Given the description of an element on the screen output the (x, y) to click on. 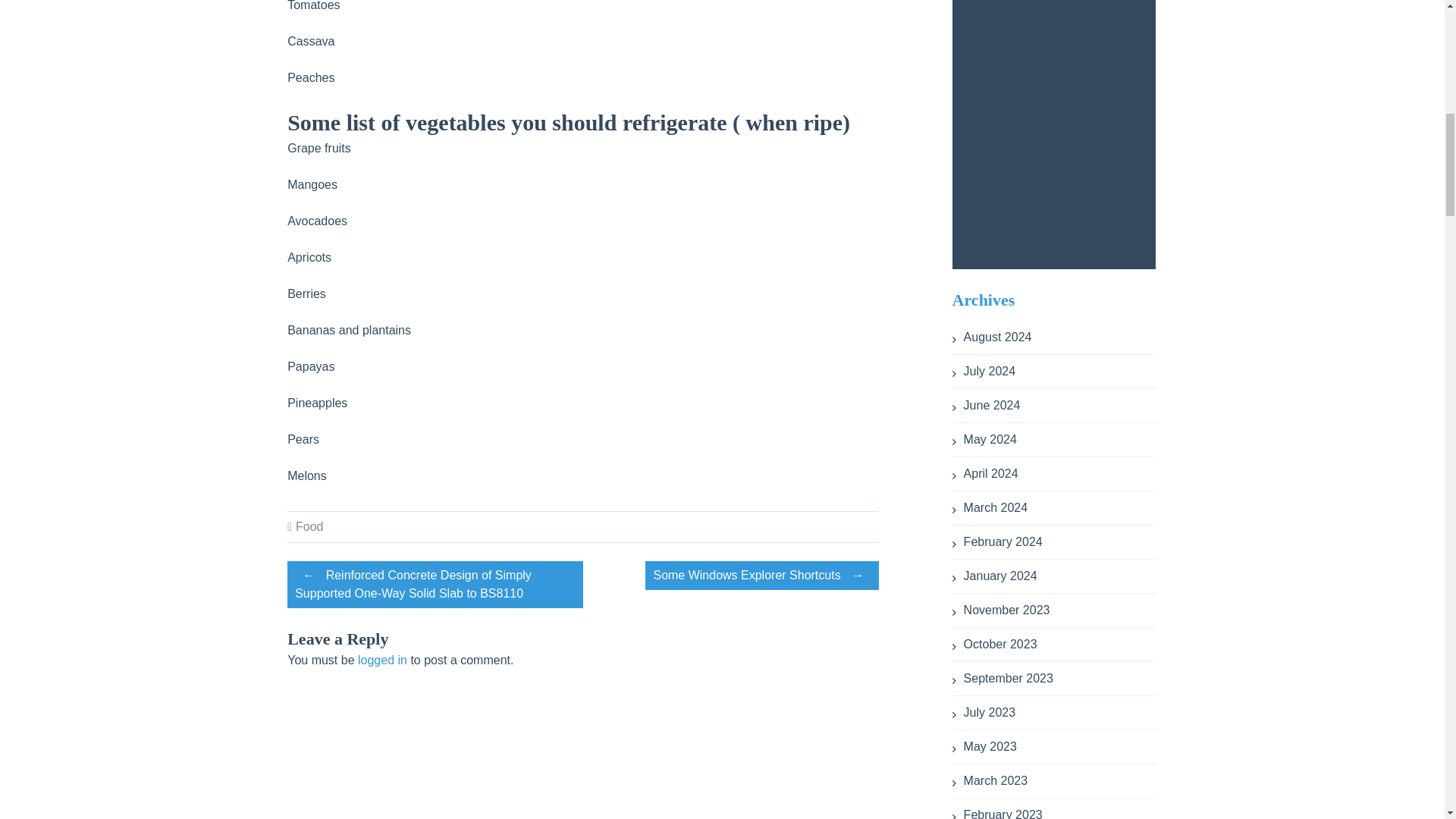
January 2024 (994, 575)
July 2023 (984, 712)
March 2024 (989, 507)
Food (309, 526)
September 2023 (1002, 677)
August 2024 (992, 336)
July 2024 (984, 370)
June 2024 (986, 404)
October 2023 (994, 644)
November 2023 (1000, 609)
